Given the description of an element on the screen output the (x, y) to click on. 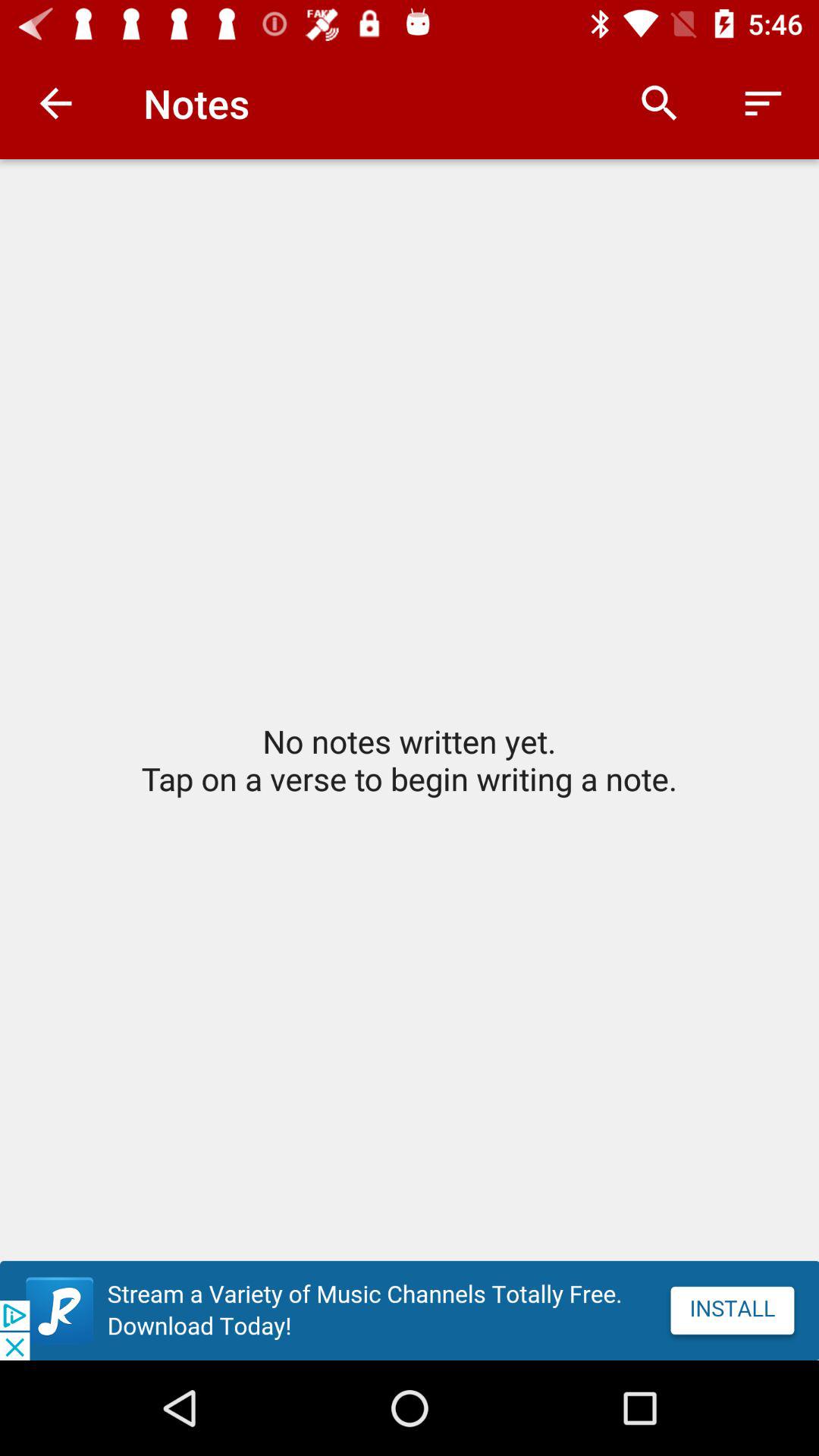
add of the option (409, 1310)
